Given the description of an element on the screen output the (x, y) to click on. 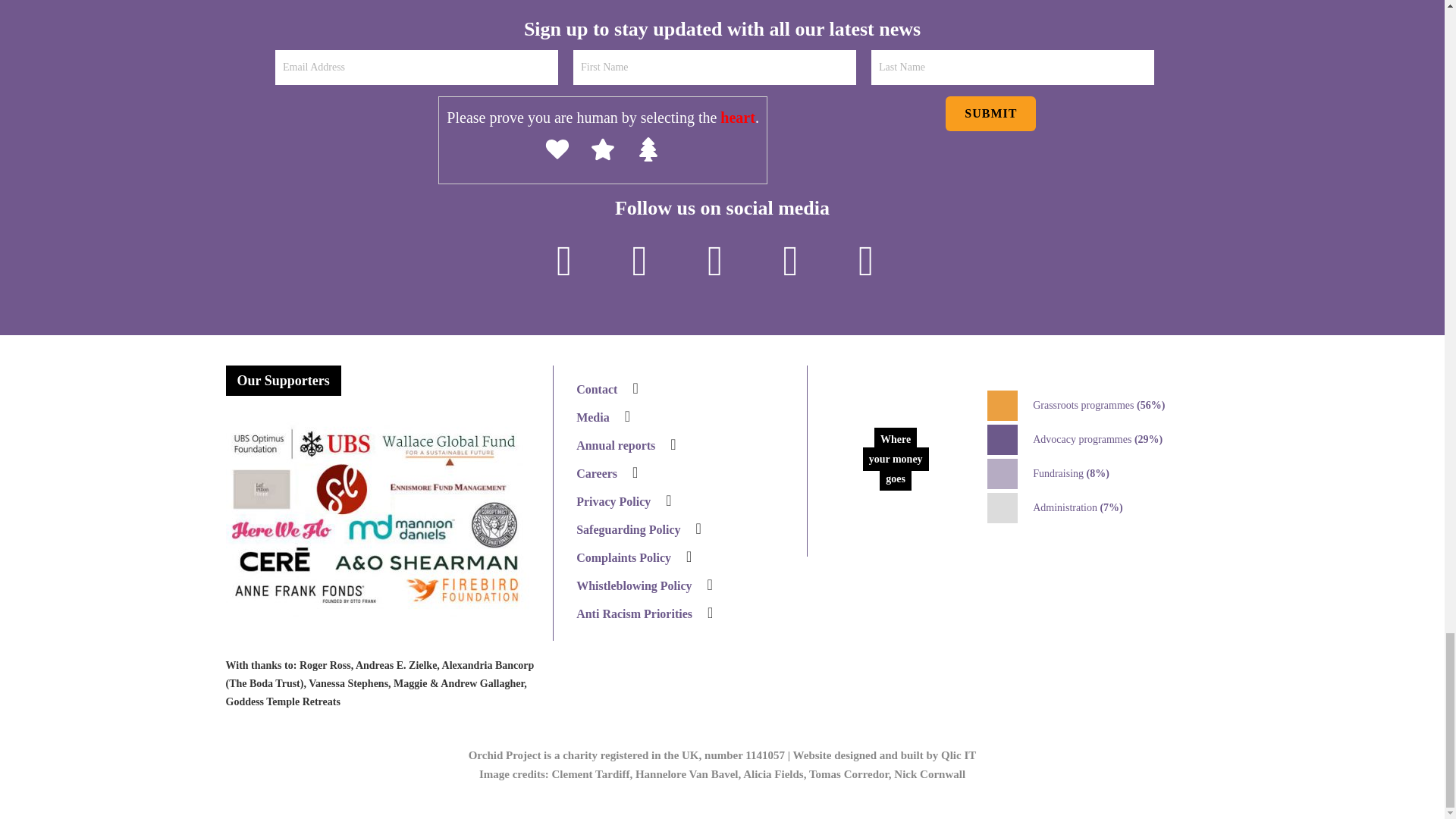
Submit (989, 113)
